Given the description of an element on the screen output the (x, y) to click on. 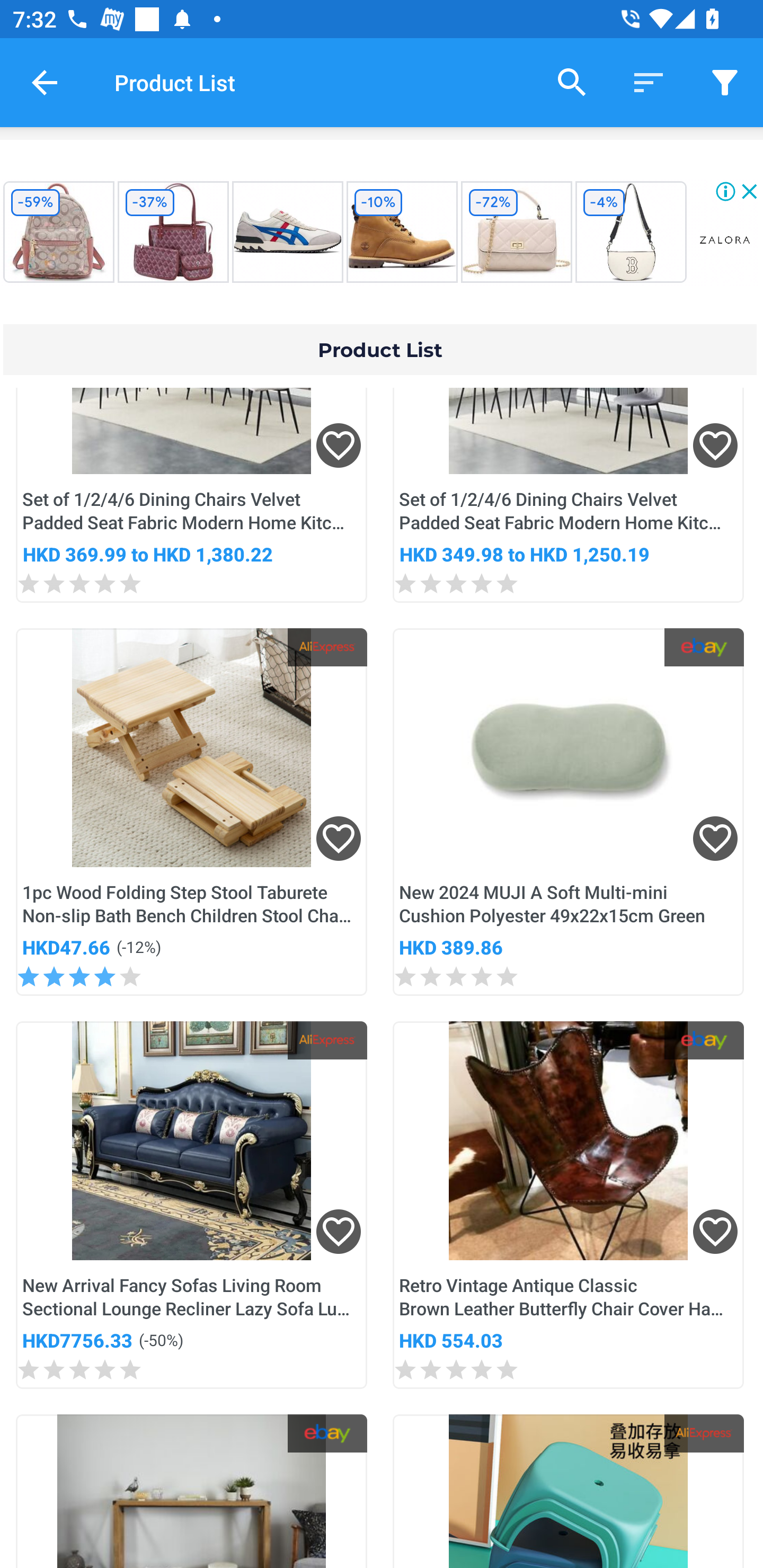
Navigate up (44, 82)
Search (572, 81)
short (648, 81)
short (724, 81)
-59% (58, 231)
-37% (173, 231)
-10% (401, 231)
-72% (516, 231)
-4% (630, 231)
